Given the description of an element on the screen output the (x, y) to click on. 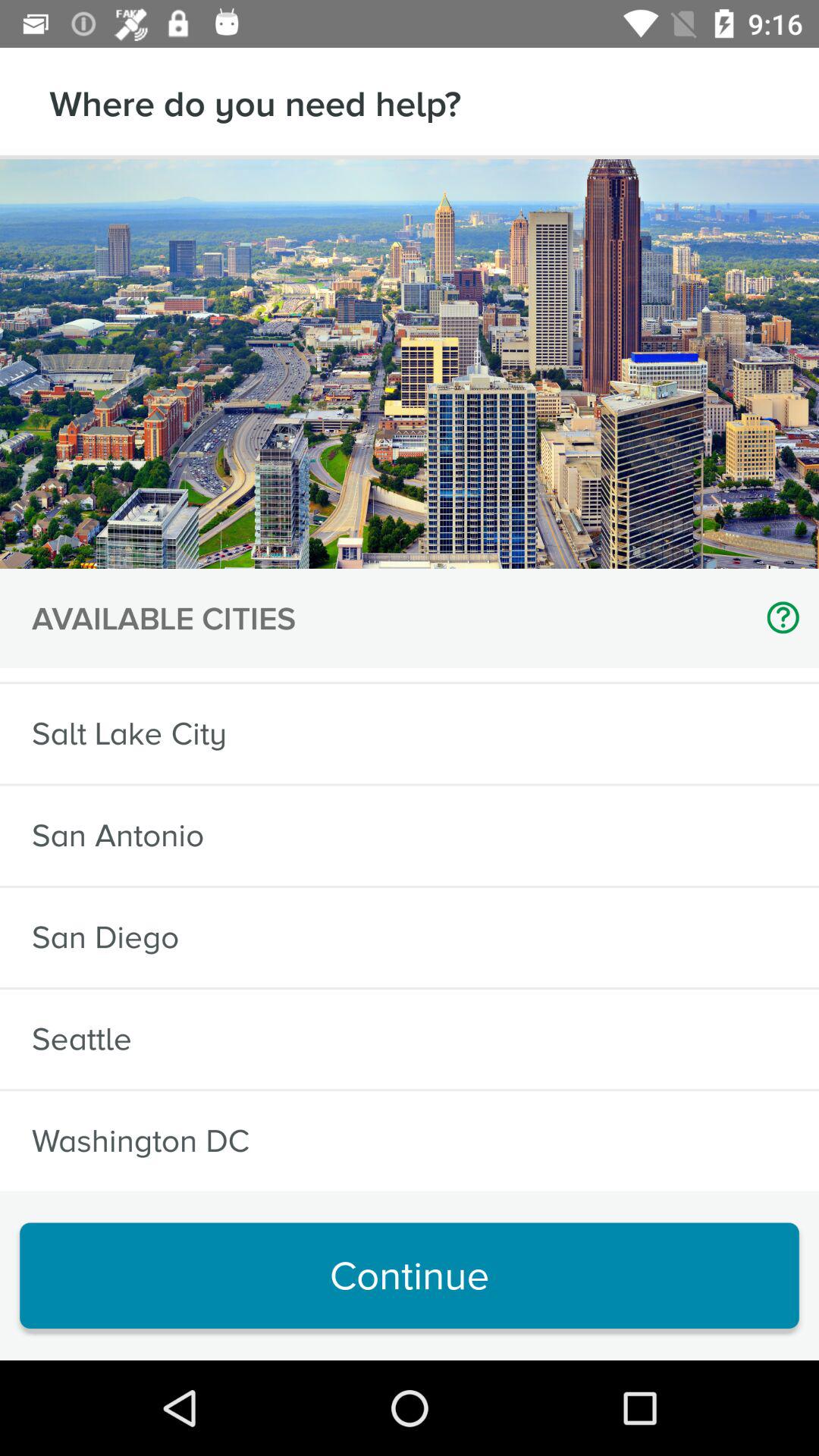
tap the item above the san diego icon (117, 835)
